Given the description of an element on the screen output the (x, y) to click on. 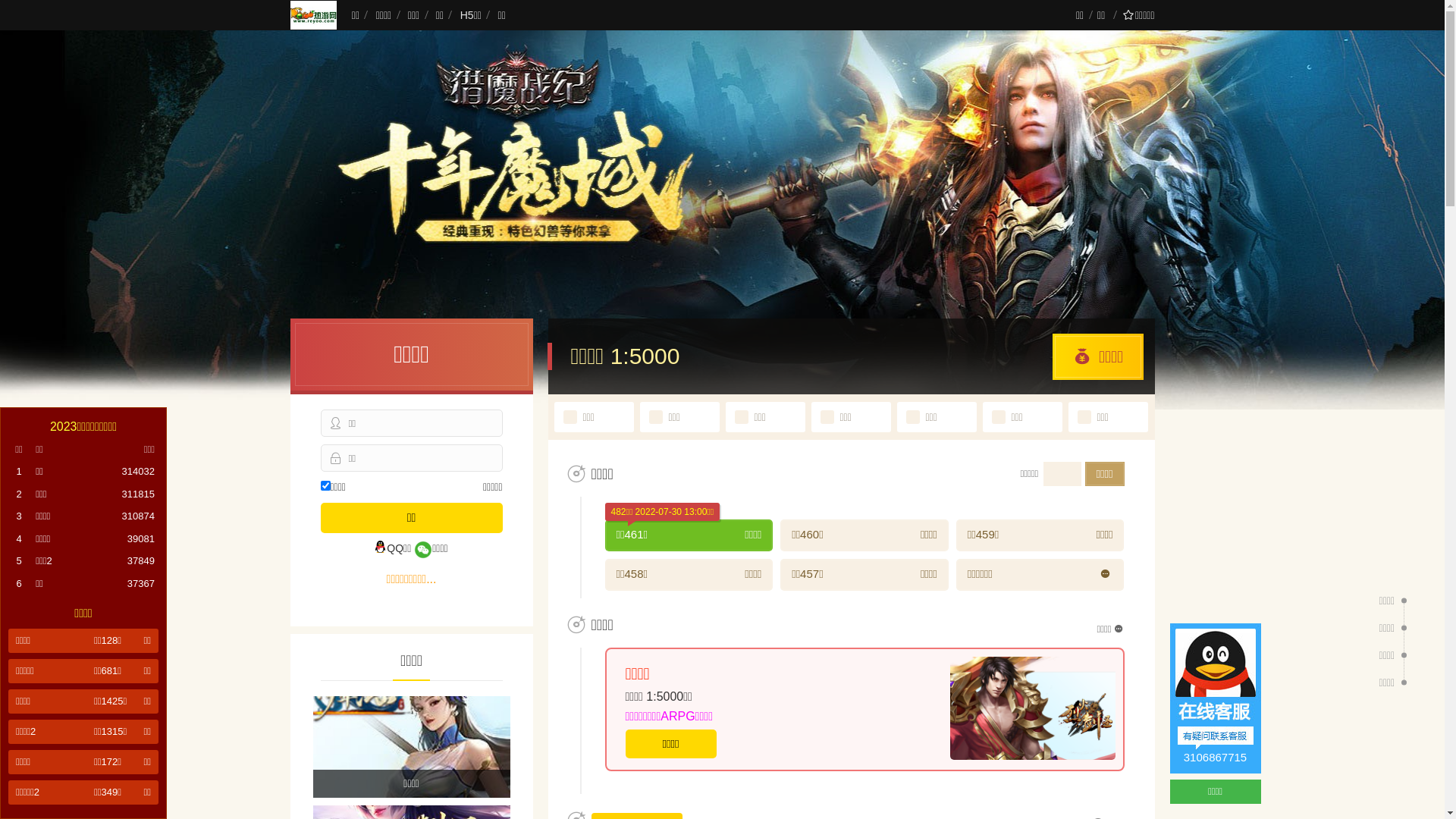
3106867715 Element type: text (1214, 698)
